Given the description of an element on the screen output the (x, y) to click on. 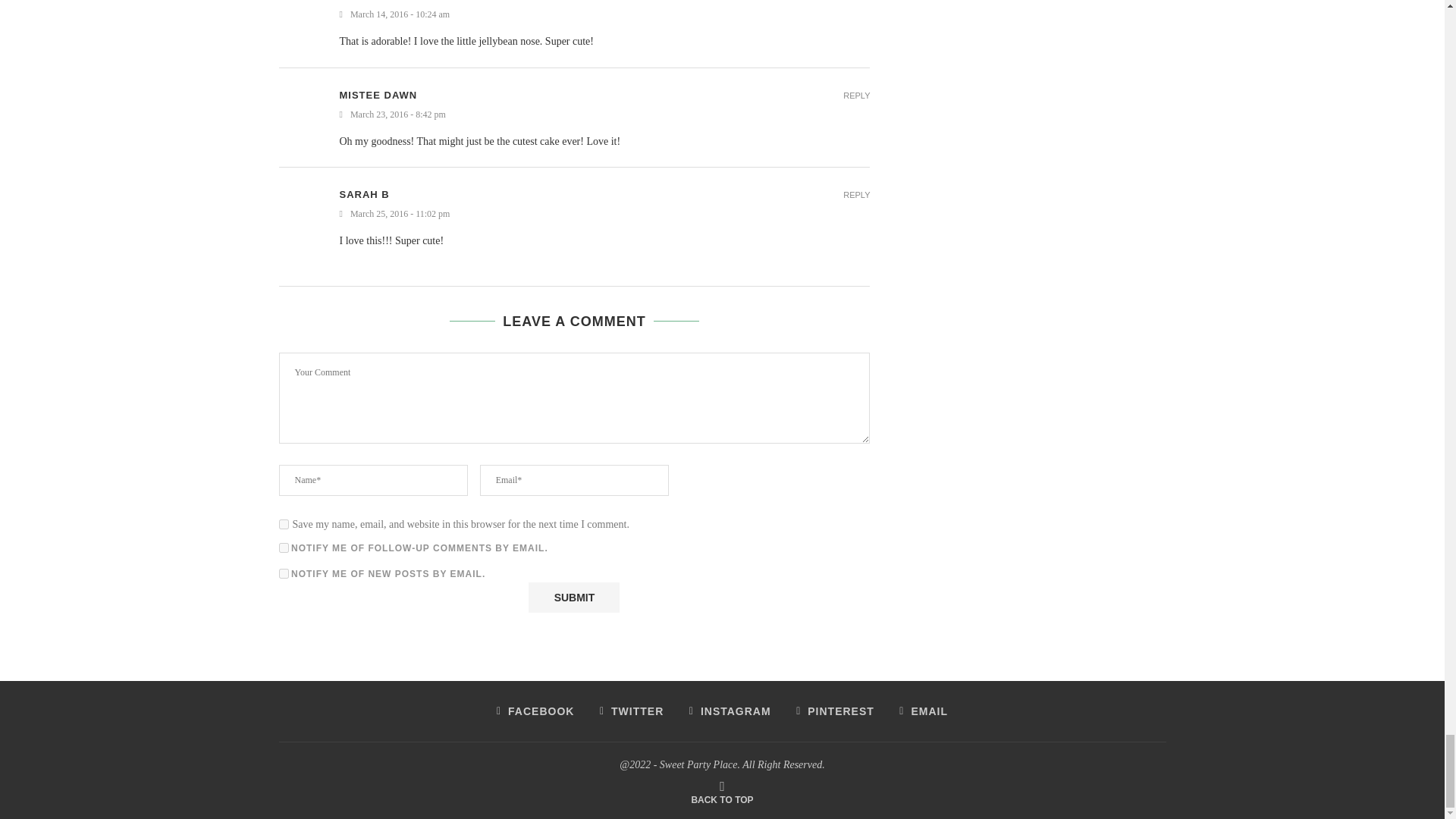
yes (283, 524)
Monday, March 14, 2016, 10:24 am (604, 14)
Submit (574, 597)
subscribe (283, 547)
subscribe (283, 573)
